Given the description of an element on the screen output the (x, y) to click on. 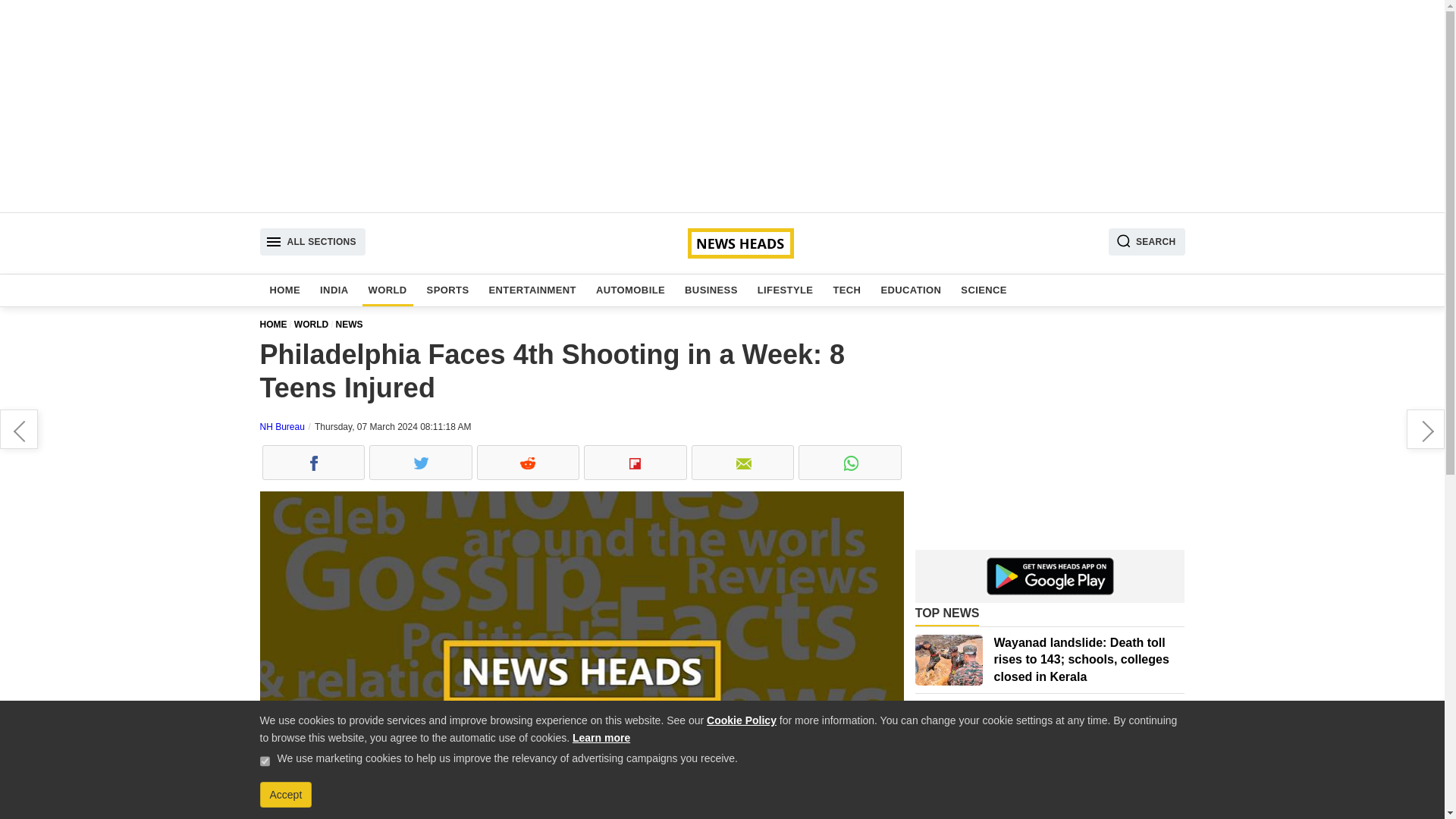
LIFESTYLE (785, 290)
AUTOMOBILE (630, 290)
SCIENCE (984, 290)
HOME (285, 290)
SEARCH (1146, 241)
Learn more (601, 737)
ALL SECTIONS (312, 241)
Accept (285, 794)
WORLD (387, 290)
WORLD (315, 324)
SPORTS (448, 290)
INDIA (333, 290)
Cookie Policy (741, 720)
EDUCATION (911, 290)
